Given the description of an element on the screen output the (x, y) to click on. 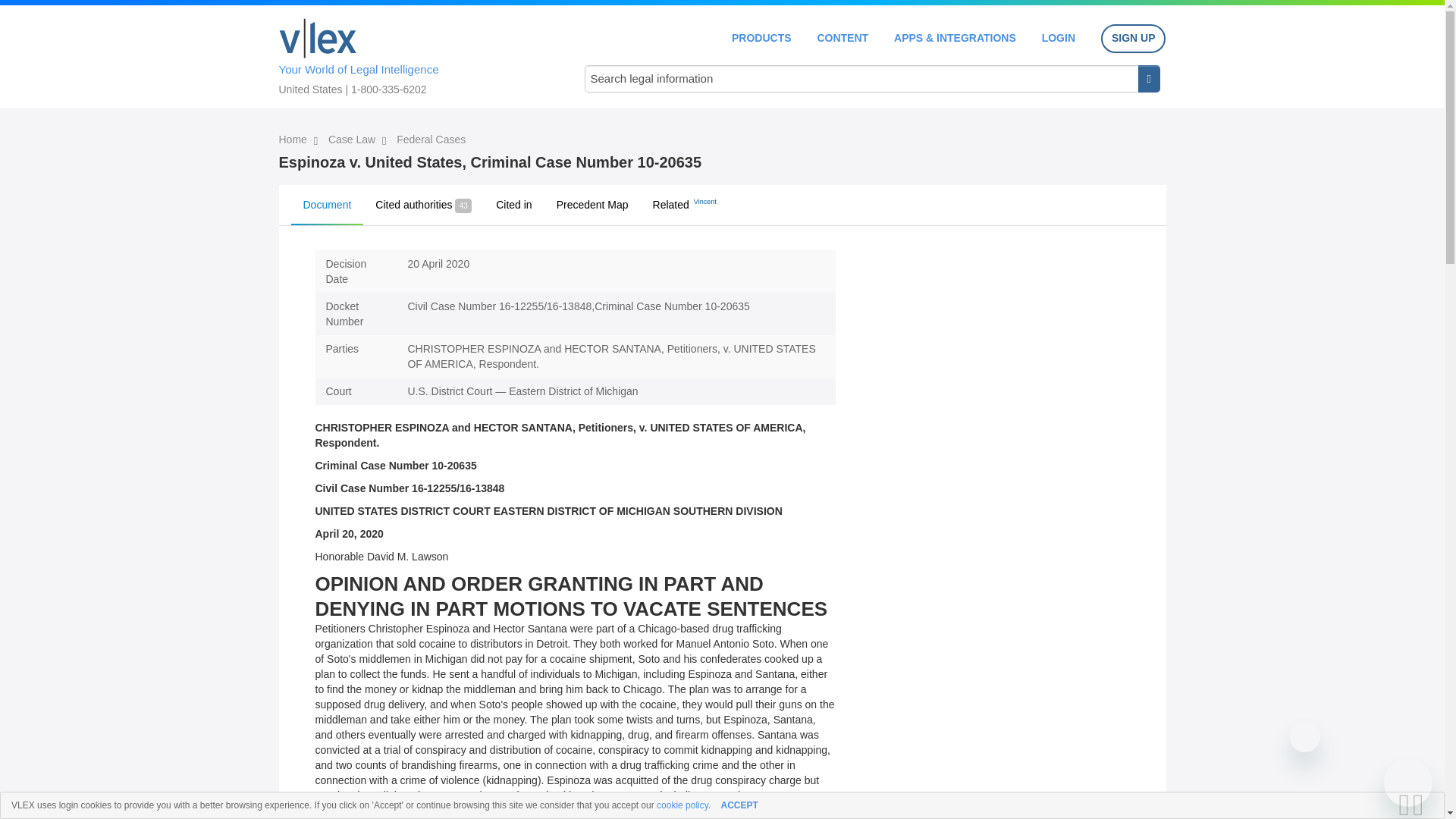
ACCEPT (739, 805)
CONTENT (841, 37)
Home (294, 139)
CLOSE (1422, 805)
PRODUCTS (762, 37)
LOGIN (1058, 37)
Federal Cases (430, 139)
Home (317, 38)
SIGN UP (1133, 38)
cookie policy (681, 805)
